Given the description of an element on the screen output the (x, y) to click on. 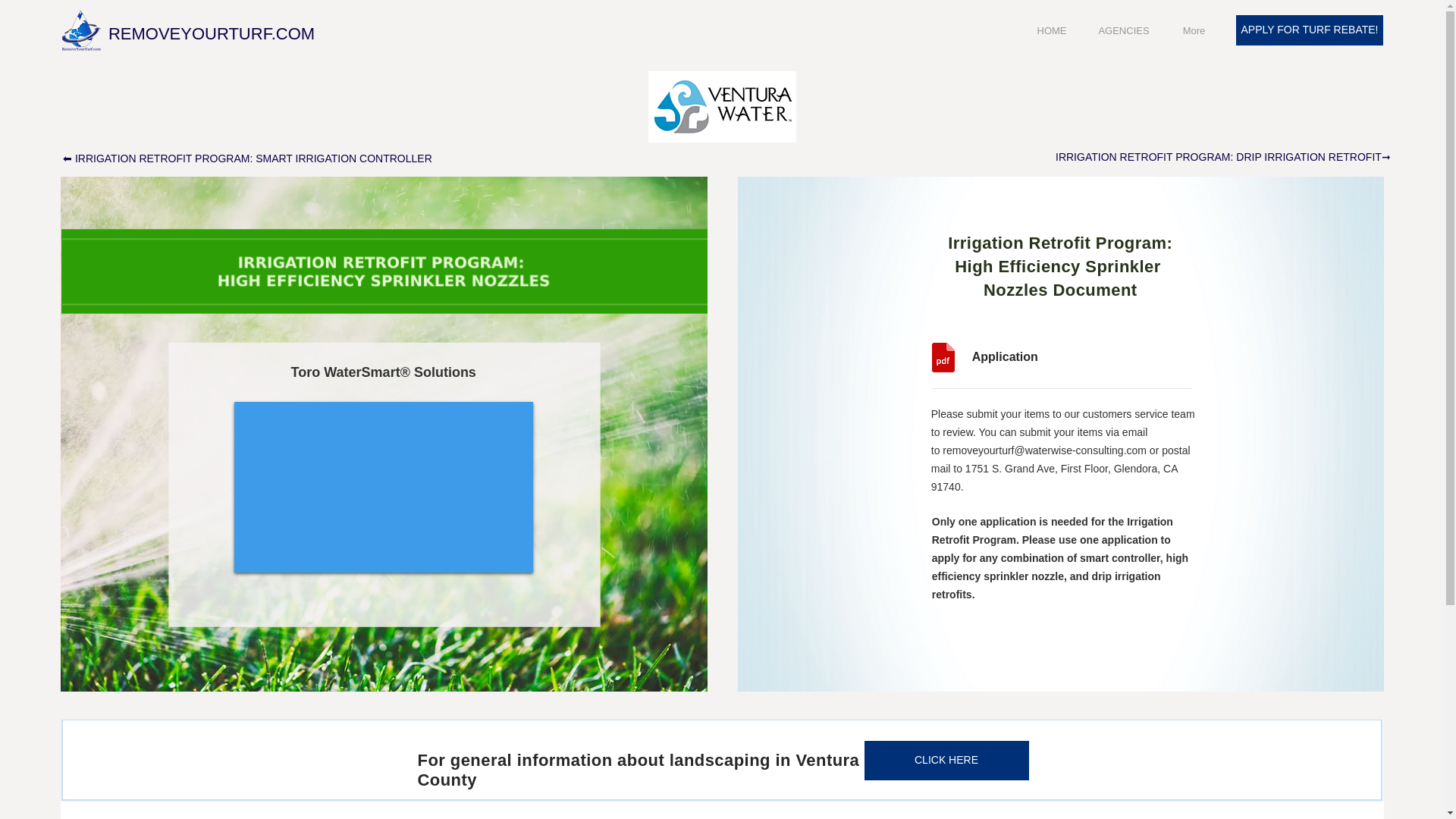
CLICK HERE (946, 760)
APPLY FOR TURF REBATE! (1309, 30)
HOME (1051, 30)
REMOVEYOURTURF.COM (211, 33)
External YouTube (383, 487)
Application (1036, 357)
